Given the description of an element on the screen output the (x, y) to click on. 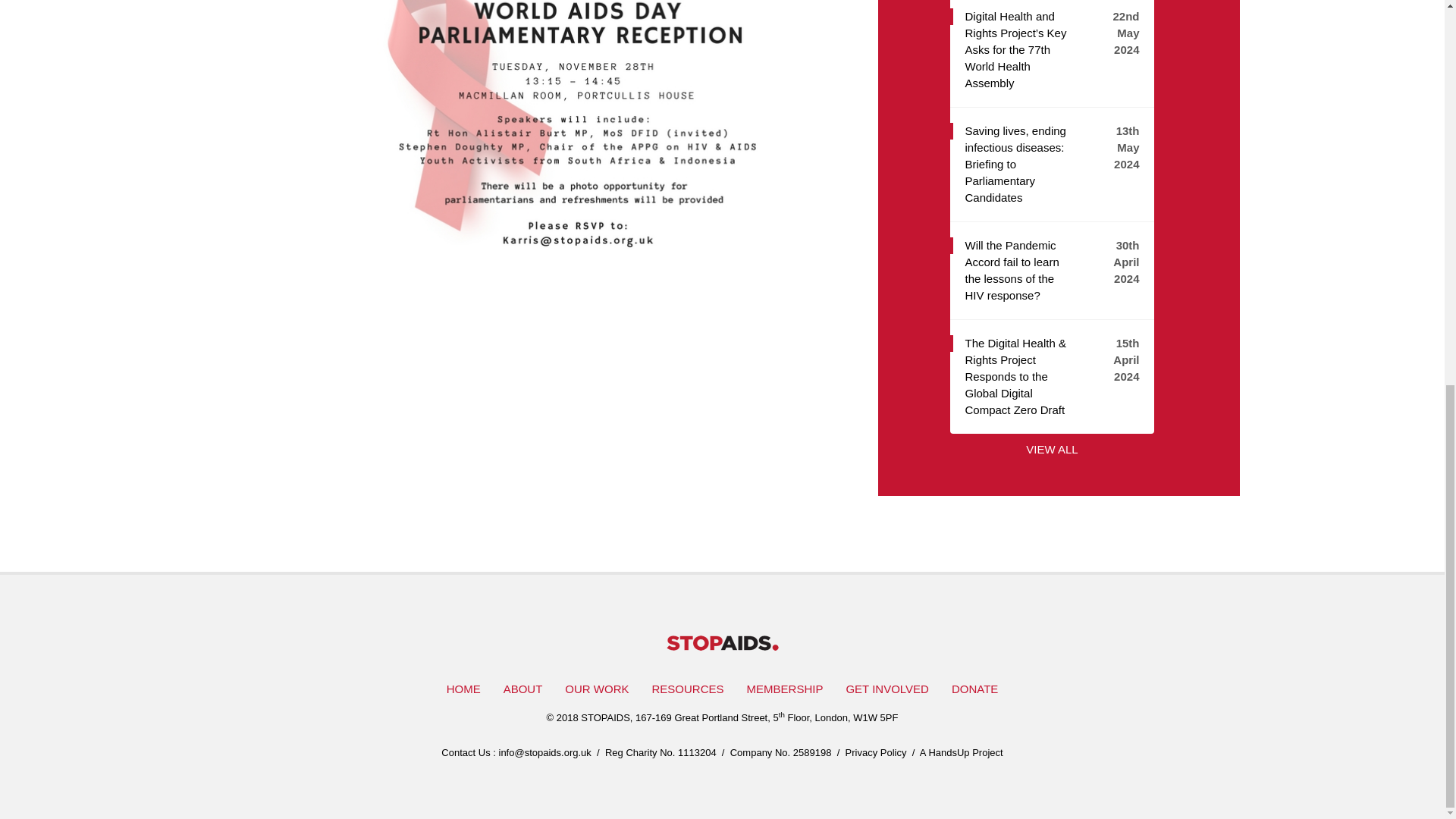
VIEW ALL (1051, 449)
ABOUT (523, 688)
GET INVOLVED (886, 688)
RESOURCES (687, 688)
MEMBERSHIP (784, 688)
A HandsUp Project (961, 752)
OUR WORK (596, 688)
DONATE (974, 688)
